Given the description of an element on the screen output the (x, y) to click on. 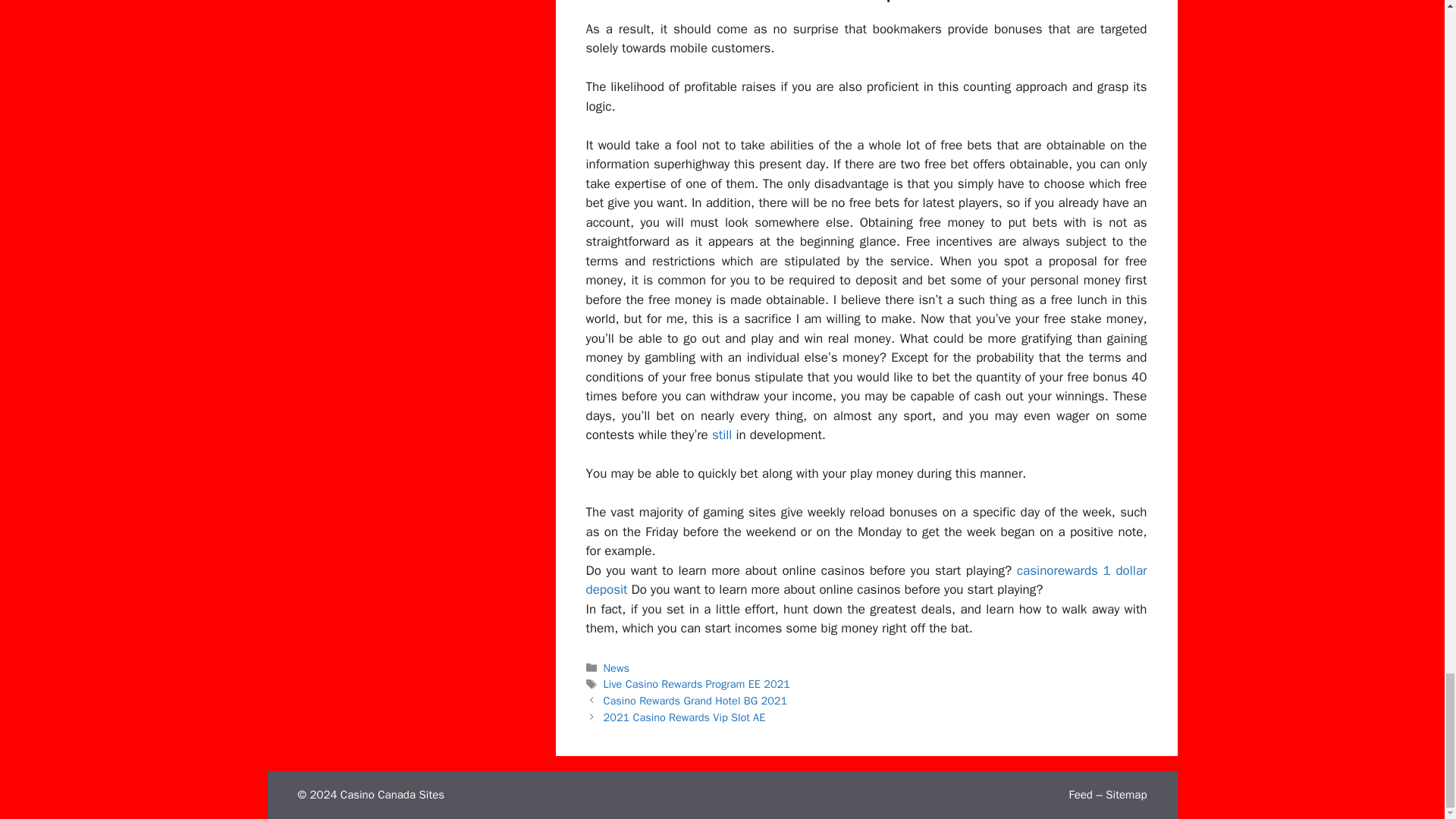
Casino Rewards Grand Hotel BG 2021 (695, 700)
casinorewards 1 dollar deposit (866, 580)
Live Casino Rewards Program EE 2021 (697, 684)
2021 Casino Rewards Vip Slot AE (684, 716)
Feed (1080, 794)
Next (684, 716)
still (721, 434)
Sitemap (1126, 794)
News (616, 667)
Previous (695, 700)
